Given the description of an element on the screen output the (x, y) to click on. 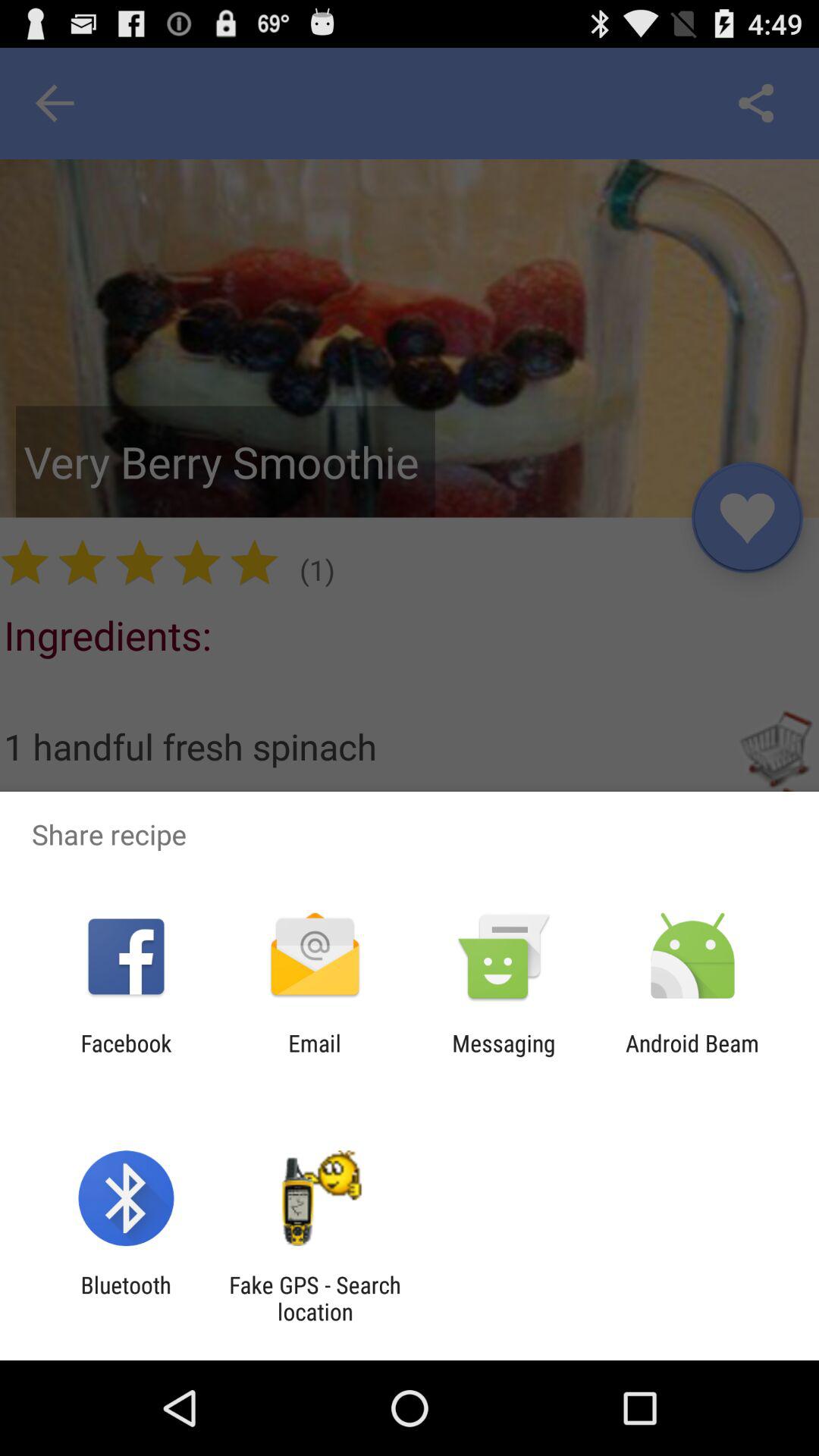
turn on the icon next to facebook (314, 1056)
